Given the description of an element on the screen output the (x, y) to click on. 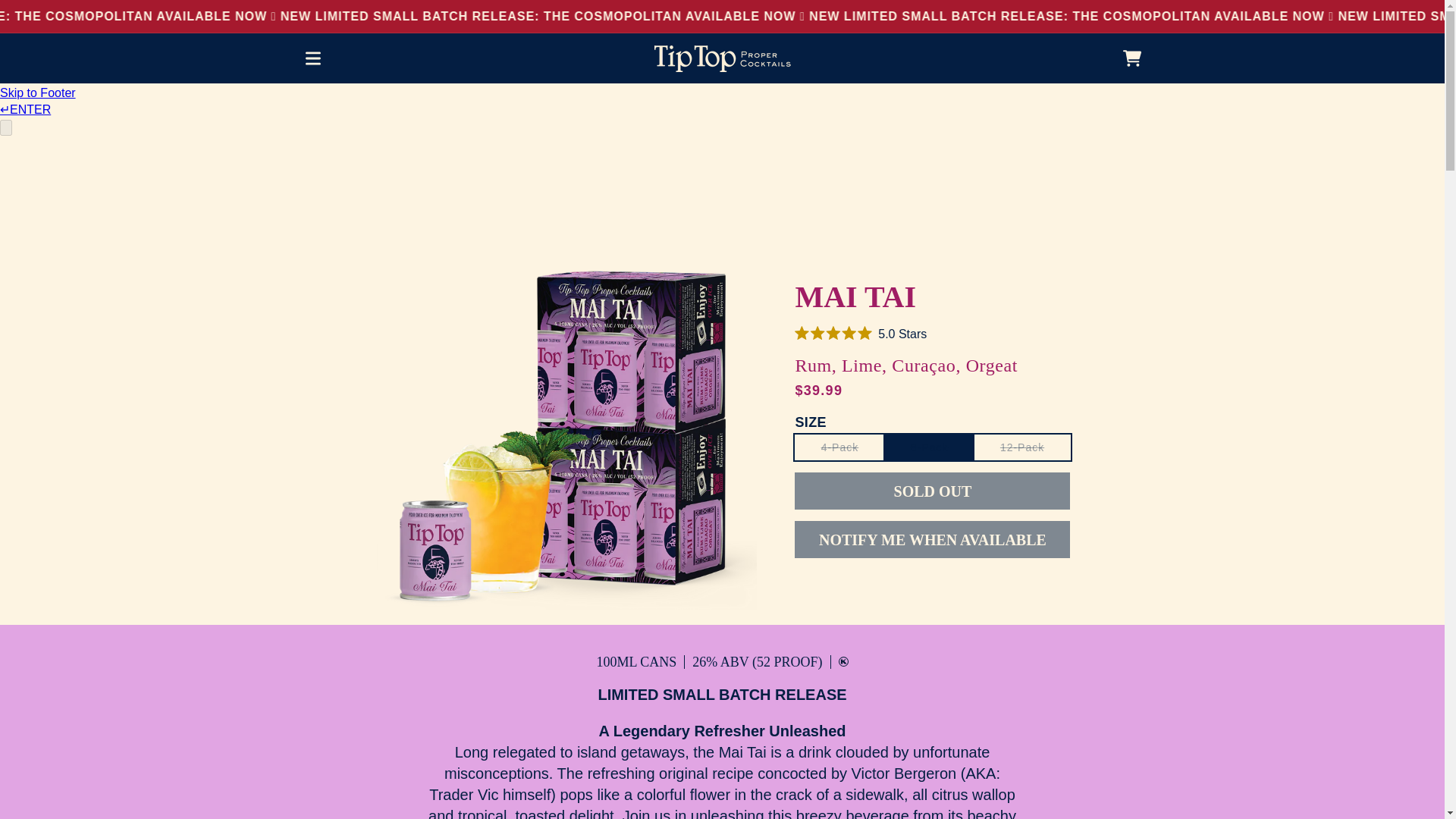
SKIP TO CONTENT (46, 18)
NOTIFY ME WHEN AVAILABLE (932, 538)
SKIP TO PRODUCT INFORMATION (419, 244)
SOLD OUT (932, 490)
Cart (1131, 58)
